Given the description of an element on the screen output the (x, y) to click on. 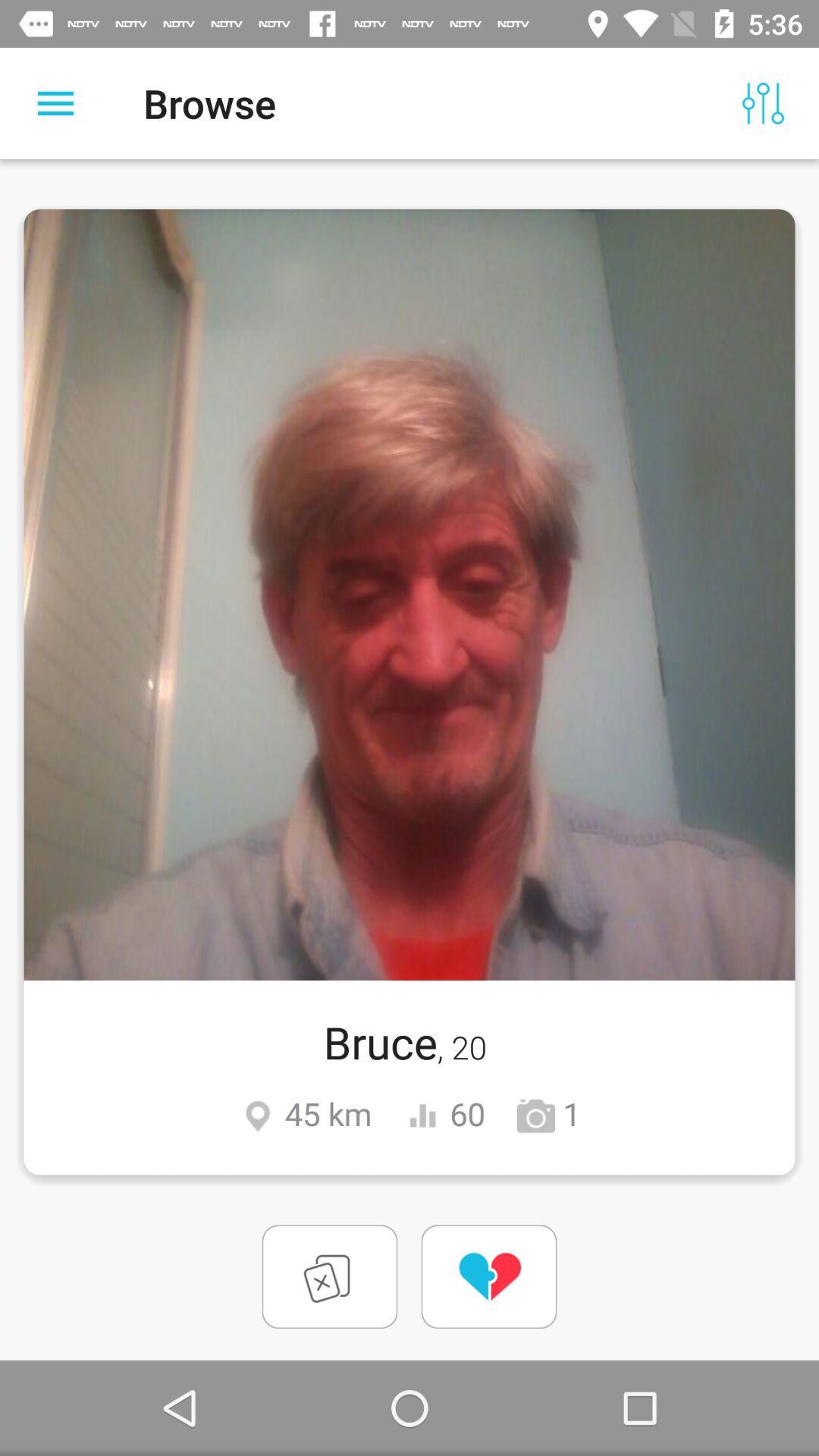
turn off item next to browse item (55, 103)
